Given the description of an element on the screen output the (x, y) to click on. 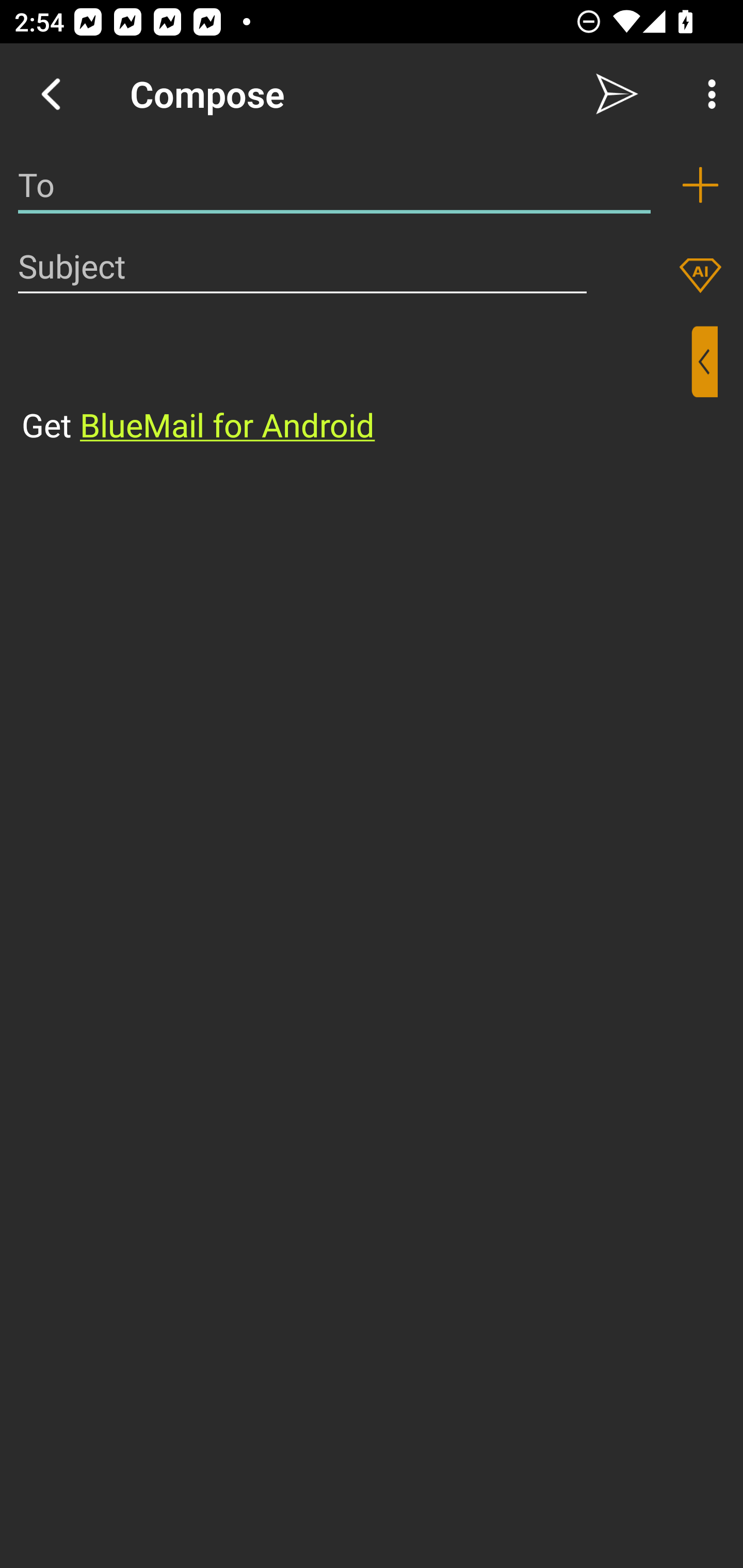
Navigate up (50, 93)
Send (616, 93)
More Options (706, 93)
To (334, 184)
Add recipient (To) (699, 184)
Subject (302, 266)


⁣Get BlueMail for Android ​ (355, 386)
